Given the description of an element on the screen output the (x, y) to click on. 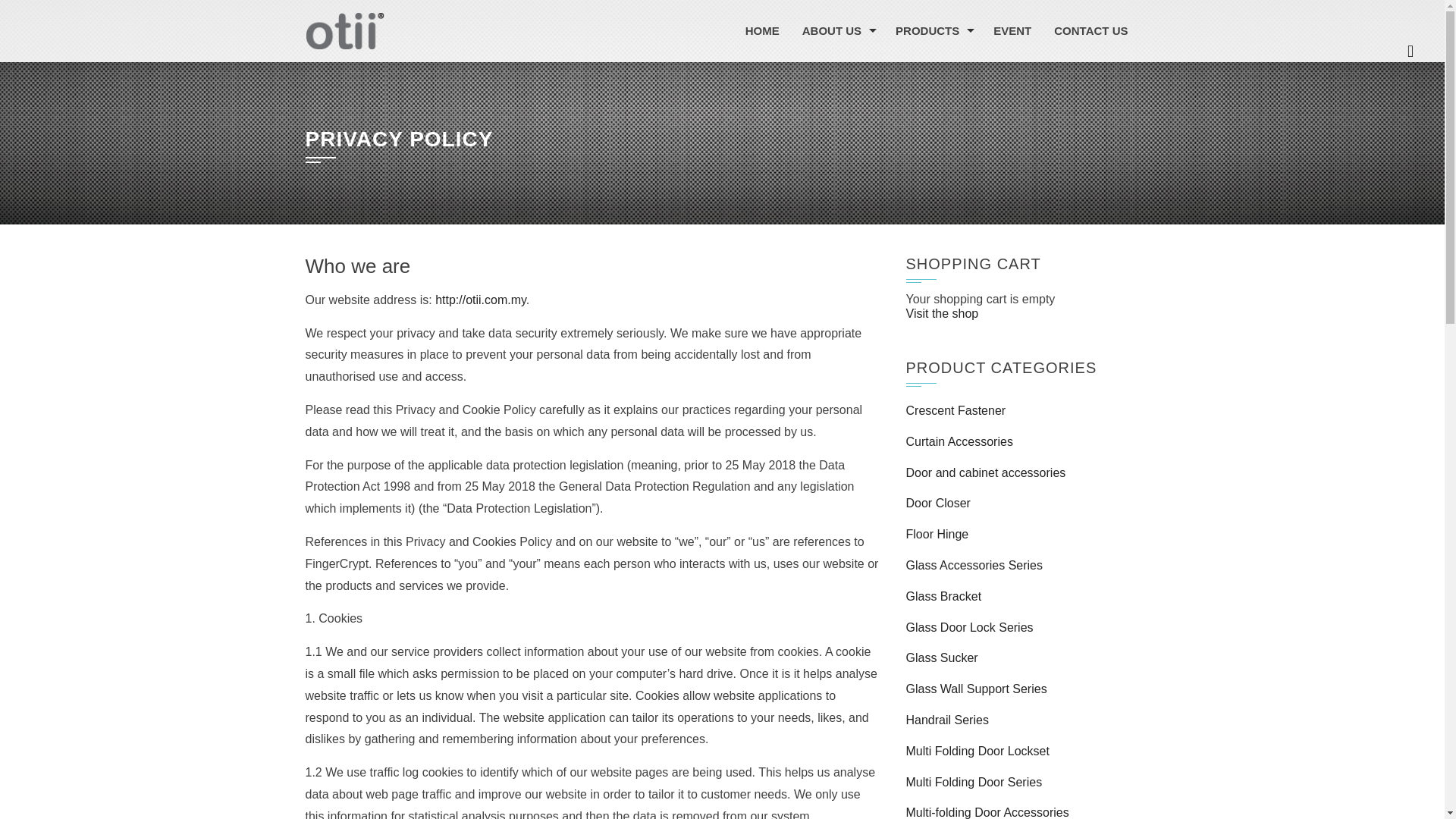
HOME (761, 31)
Visit Shop (941, 313)
PRODUCTS (932, 31)
ABOUT US (836, 31)
